Given the description of an element on the screen output the (x, y) to click on. 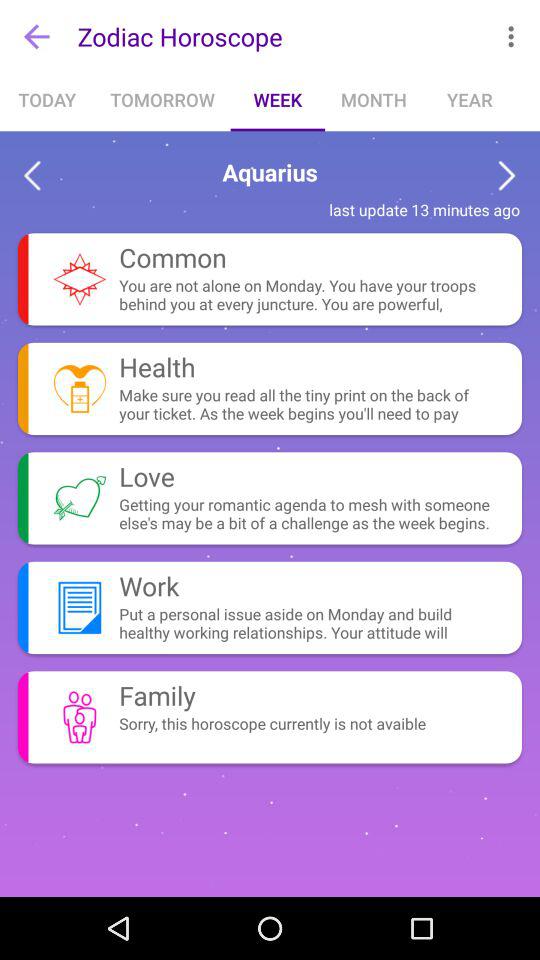
tap the icon next to zodiac horoscope icon (36, 36)
